Given the description of an element on the screen output the (x, y) to click on. 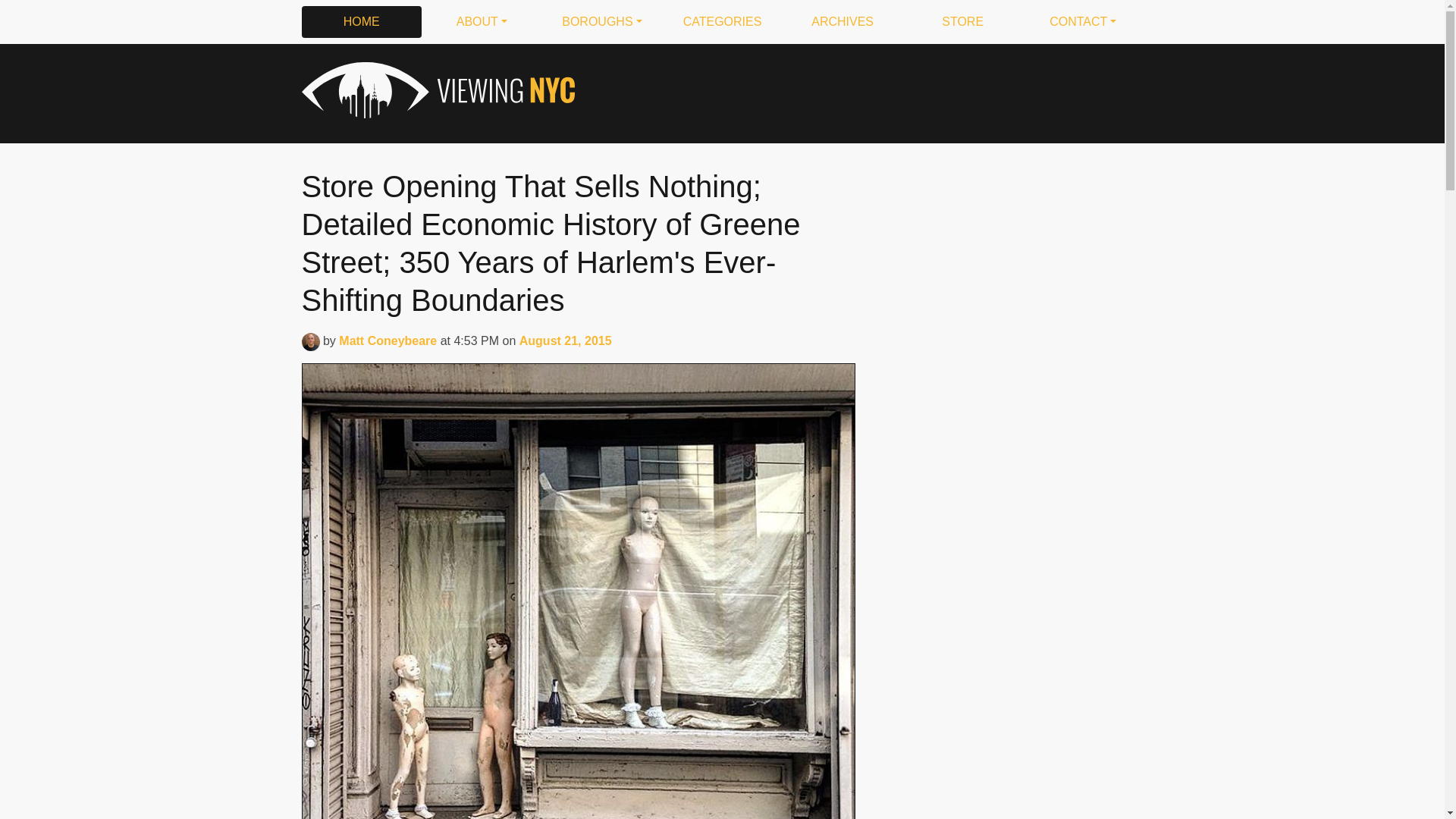
BOROUGHS (601, 21)
HOME (361, 21)
CATEGORIES (722, 21)
Advertisement (866, 90)
Viewing NYC (434, 90)
ABOUT (481, 21)
STORE (962, 21)
ARCHIVES (842, 21)
CONTACT (1082, 21)
